Given the description of an element on the screen output the (x, y) to click on. 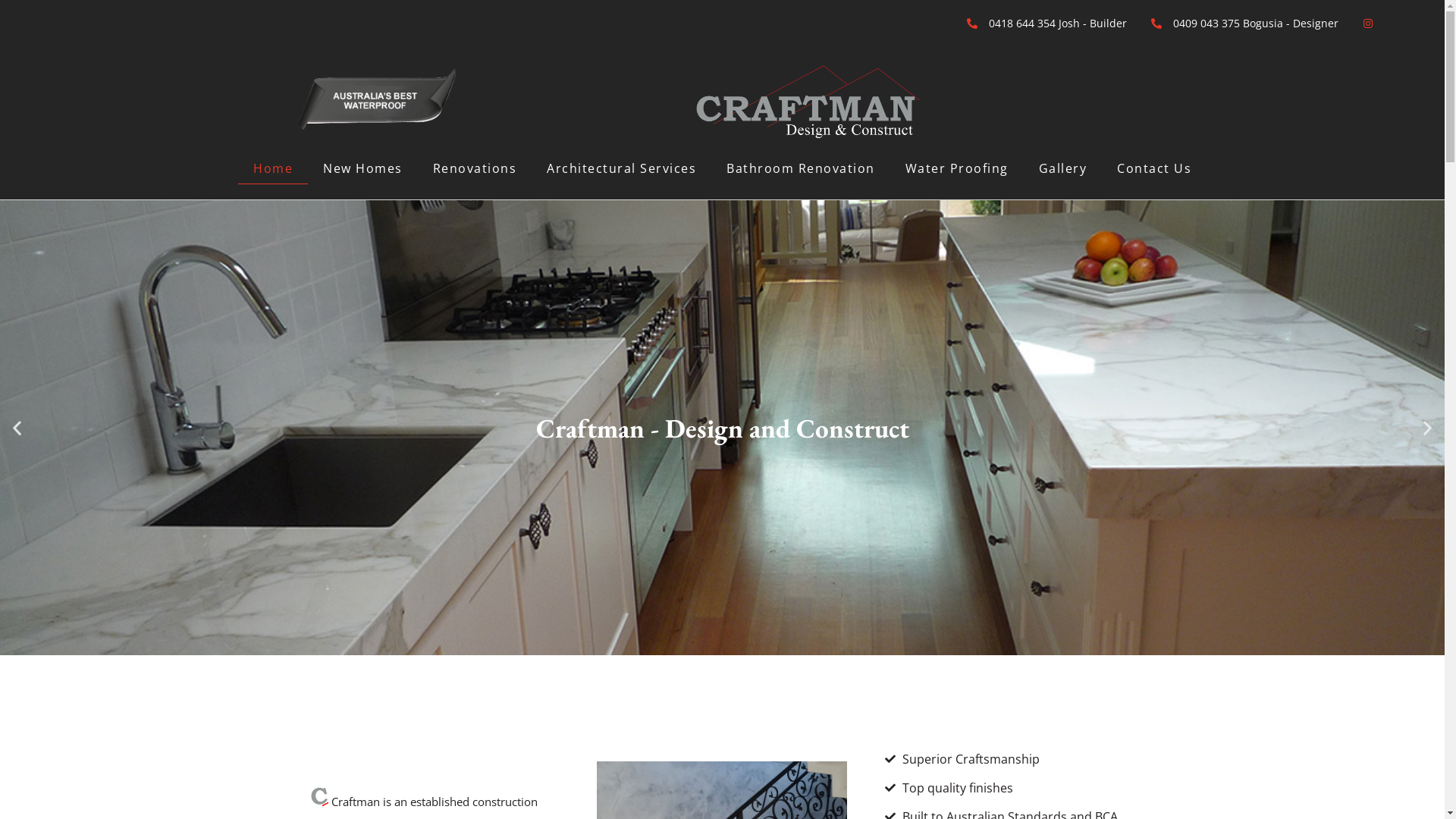
0418 644 354 Josh - Builder Element type: text (1045, 23)
Architectural Services Element type: text (621, 168)
Renovations Element type: text (474, 168)
Gallery Element type: text (1062, 168)
New Homes Element type: text (362, 168)
Water Proofing Element type: text (956, 168)
0409 043 375 Bogusia - Designer Element type: text (1243, 23)
Bathroom Renovation Element type: text (800, 168)
Contact Us Element type: text (1153, 168)
Home Element type: text (272, 168)
